Given the description of an element on the screen output the (x, y) to click on. 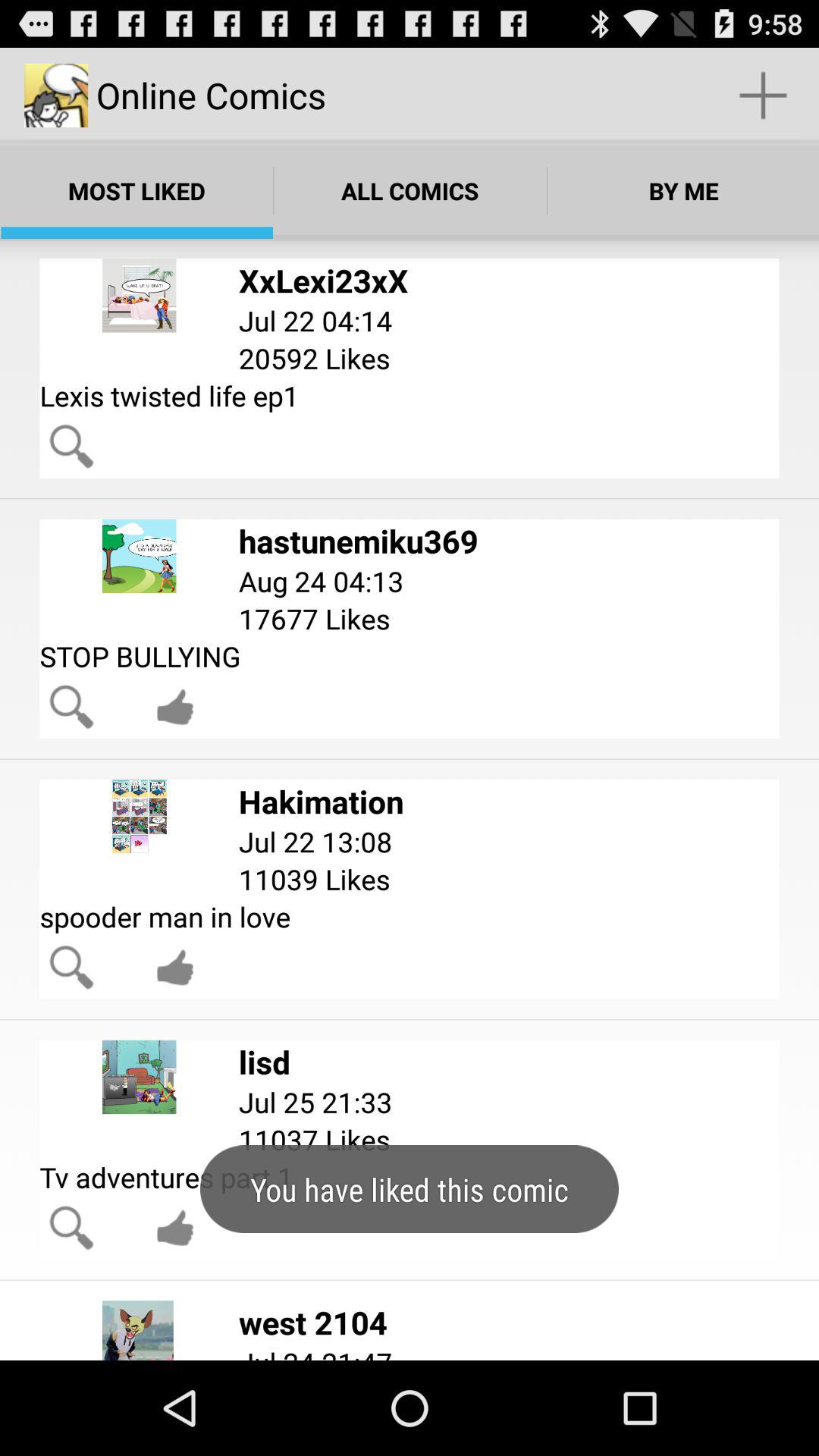
search option (71, 706)
